Given the description of an element on the screen output the (x, y) to click on. 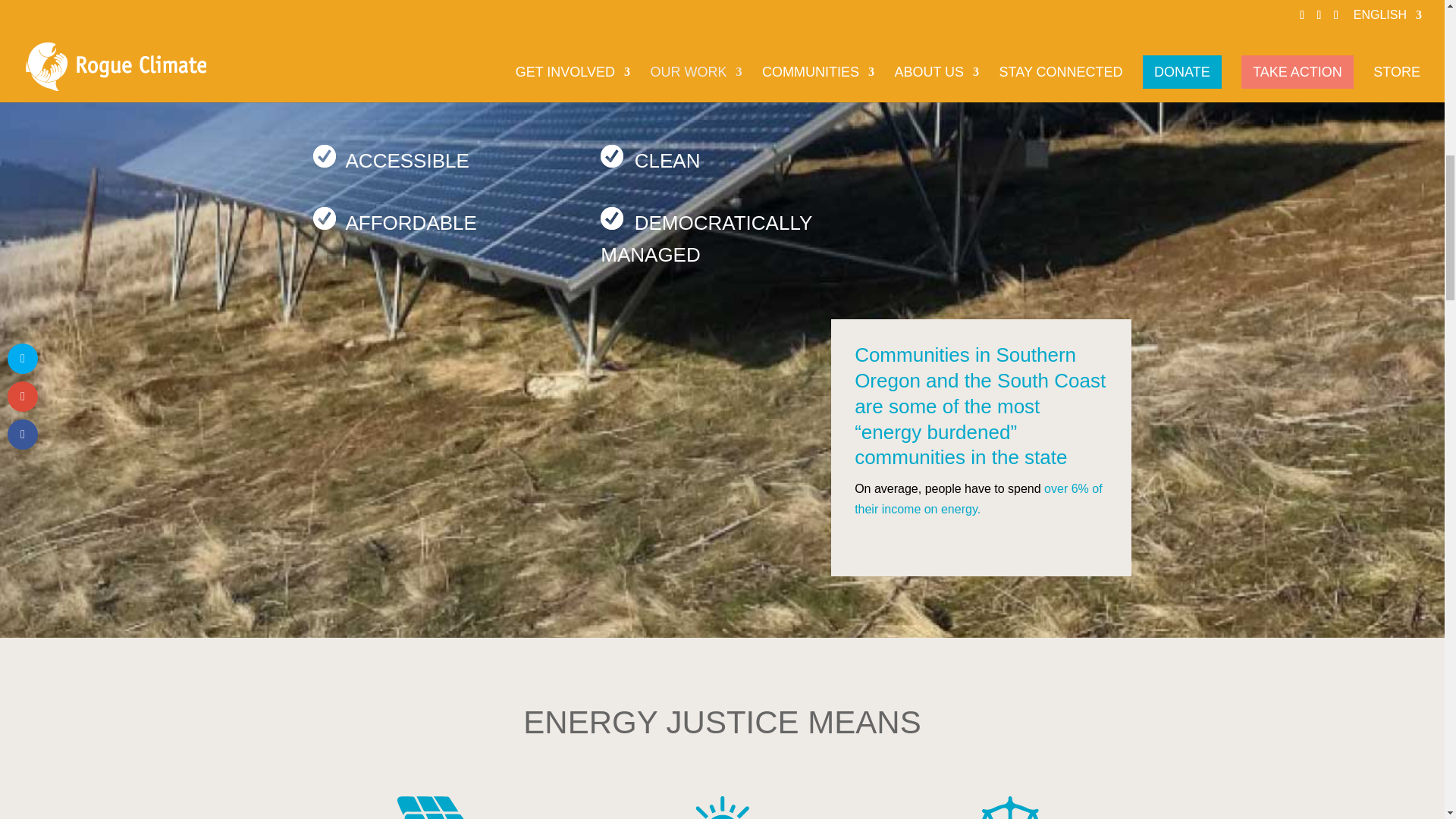
justice-icon (1009, 807)
sun-icon (721, 807)
solar-icon (434, 807)
